Given the description of an element on the screen output the (x, y) to click on. 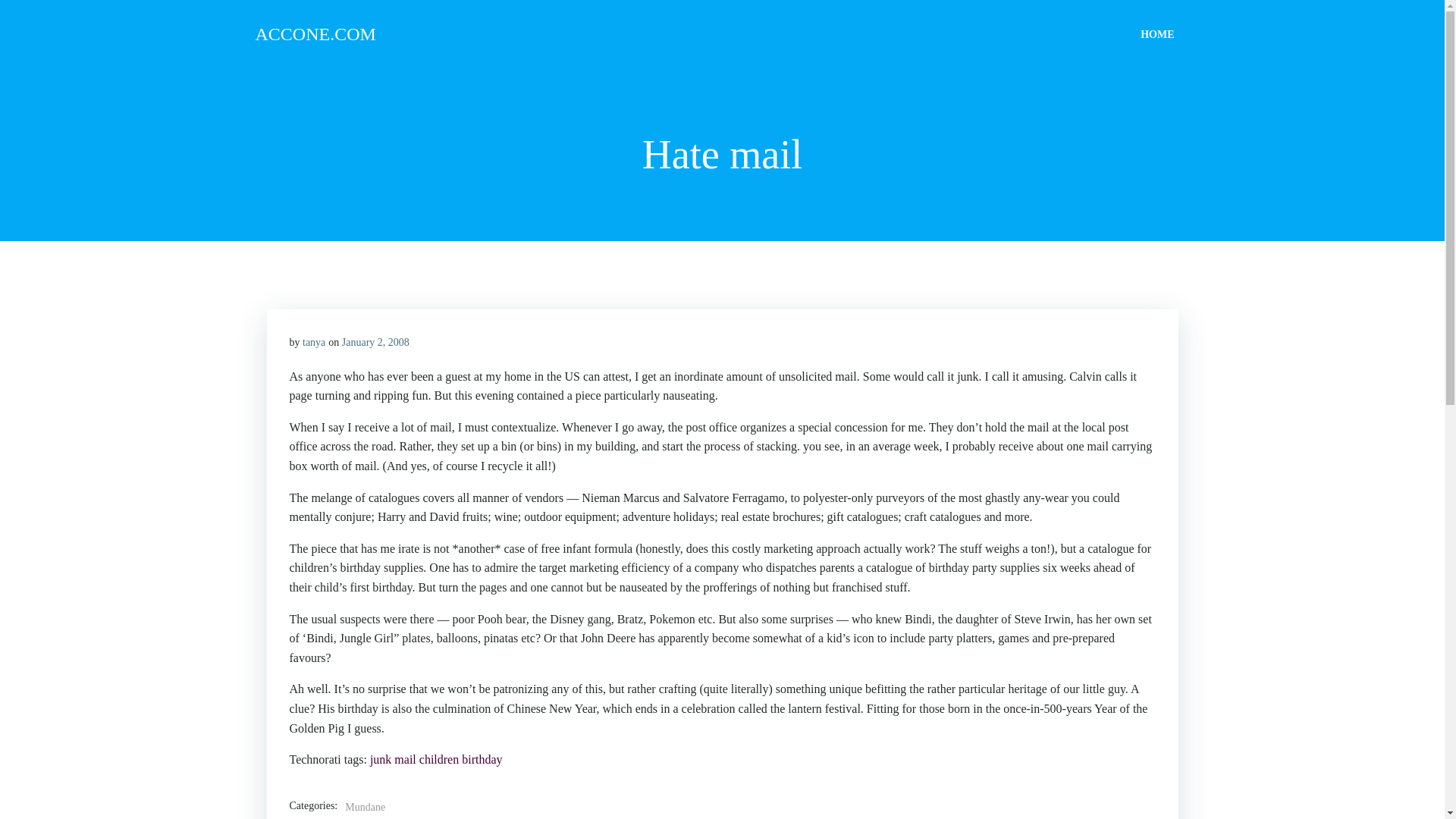
Technorati tag page for junk mail (392, 758)
Technorati tag page for children (438, 758)
junk mail (392, 758)
birthday (481, 758)
HOME (1156, 33)
ACCONE.COM (314, 33)
children (438, 758)
tanya (313, 342)
Mundane (365, 807)
January 2, 2008 (375, 342)
